Given the description of an element on the screen output the (x, y) to click on. 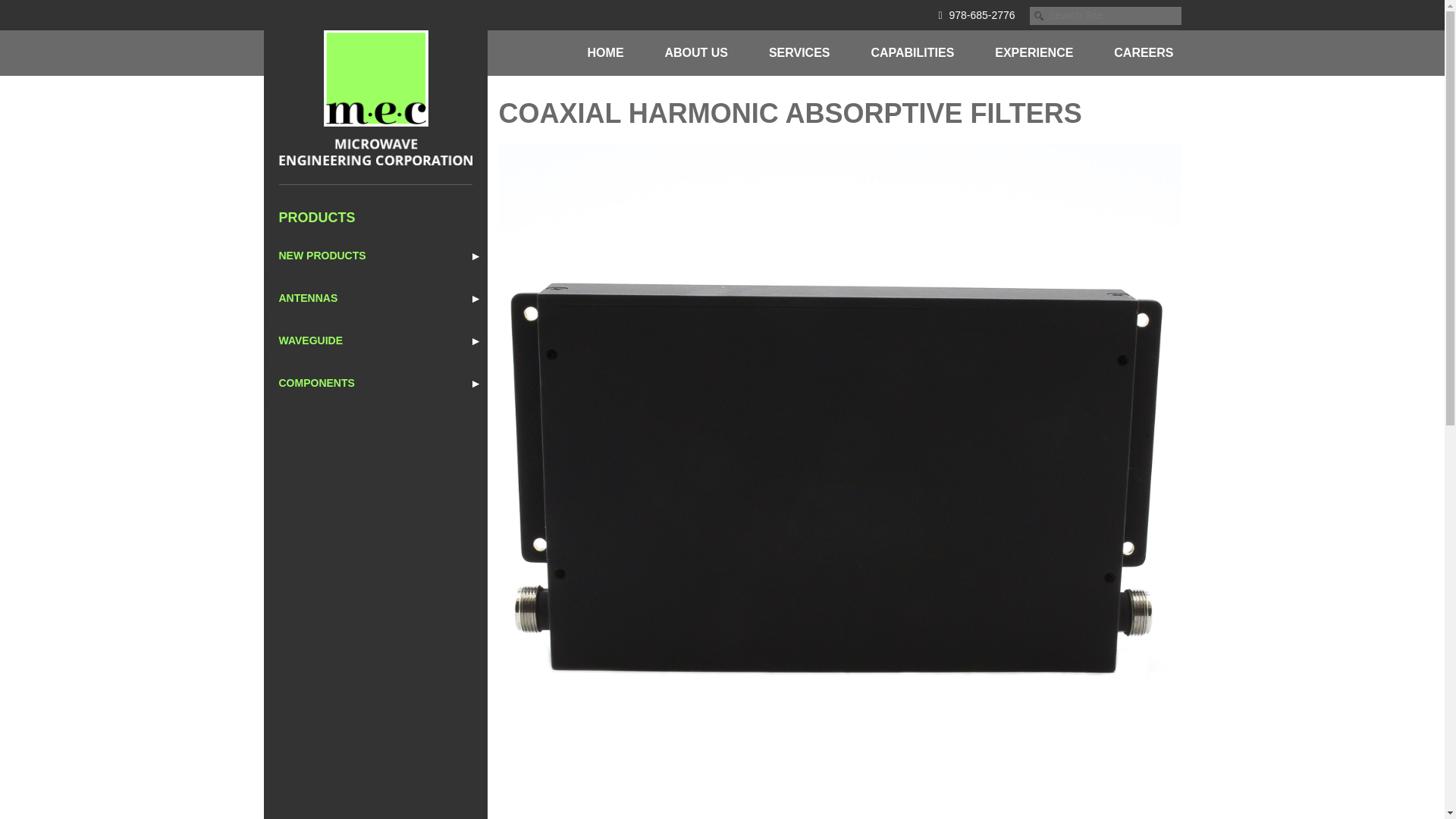
View all posts filed under Waveguide (375, 340)
View all posts filed under Antennas (375, 298)
CAPABILITIES (911, 53)
COAXIAL HARMONIC ABSORPTIVE FILTERS (790, 112)
Home (605, 53)
WAVEGUIDE (375, 340)
HOME (605, 53)
COMING SOON! (375, 256)
NEW PRODUCTS (375, 256)
ABOUT US (695, 53)
